Given the description of an element on the screen output the (x, y) to click on. 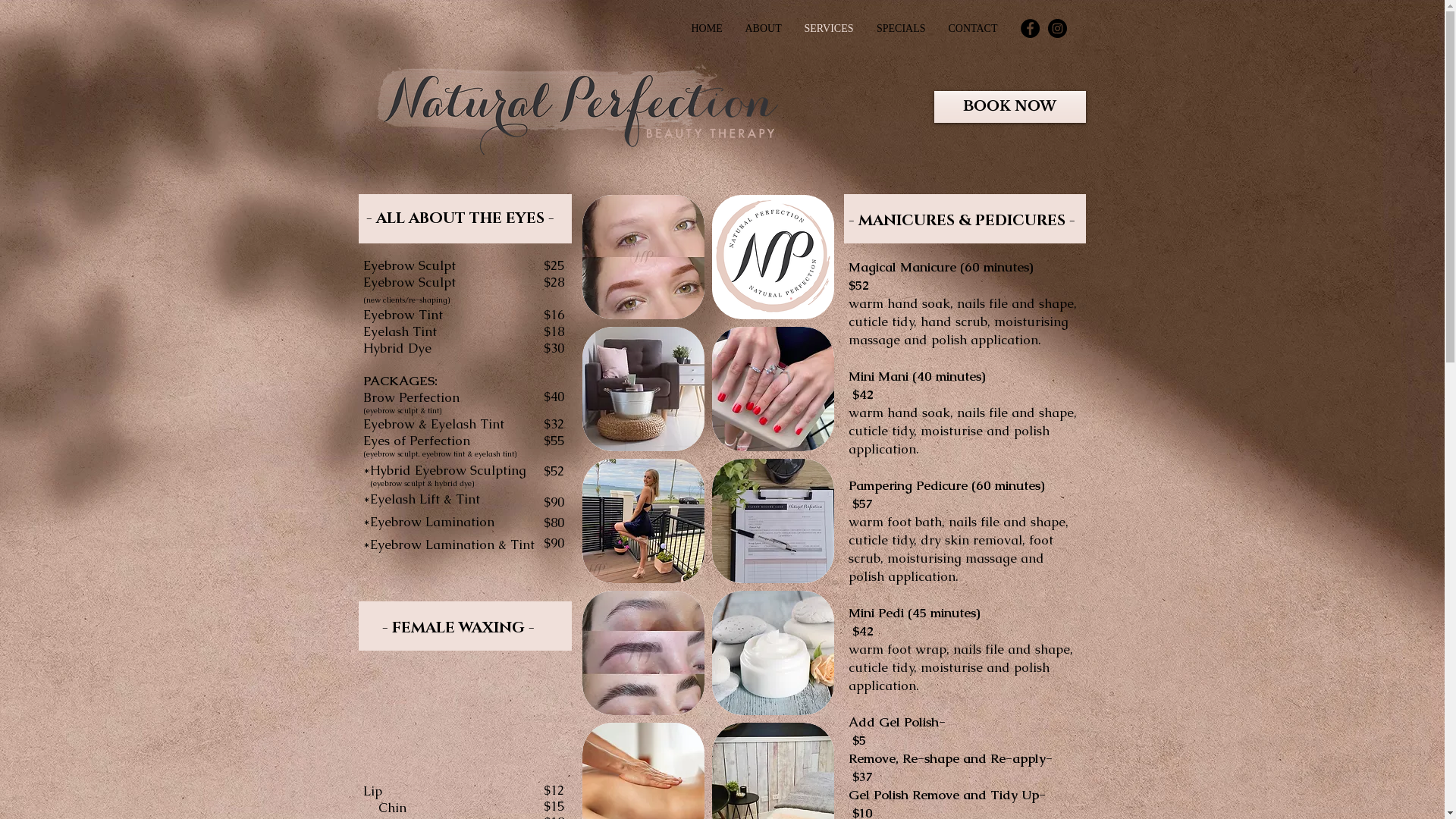
North Brisbane Beauty Salon Element type: hover (579, 106)
SPECIALS Element type: text (900, 28)
CONTACT Element type: text (973, 28)
BOOK NOW Element type: text (1009, 106)
HOME Element type: text (706, 28)
SERVICES Element type: text (829, 28)
ABOUT Element type: text (763, 28)
